Given the description of an element on the screen output the (x, y) to click on. 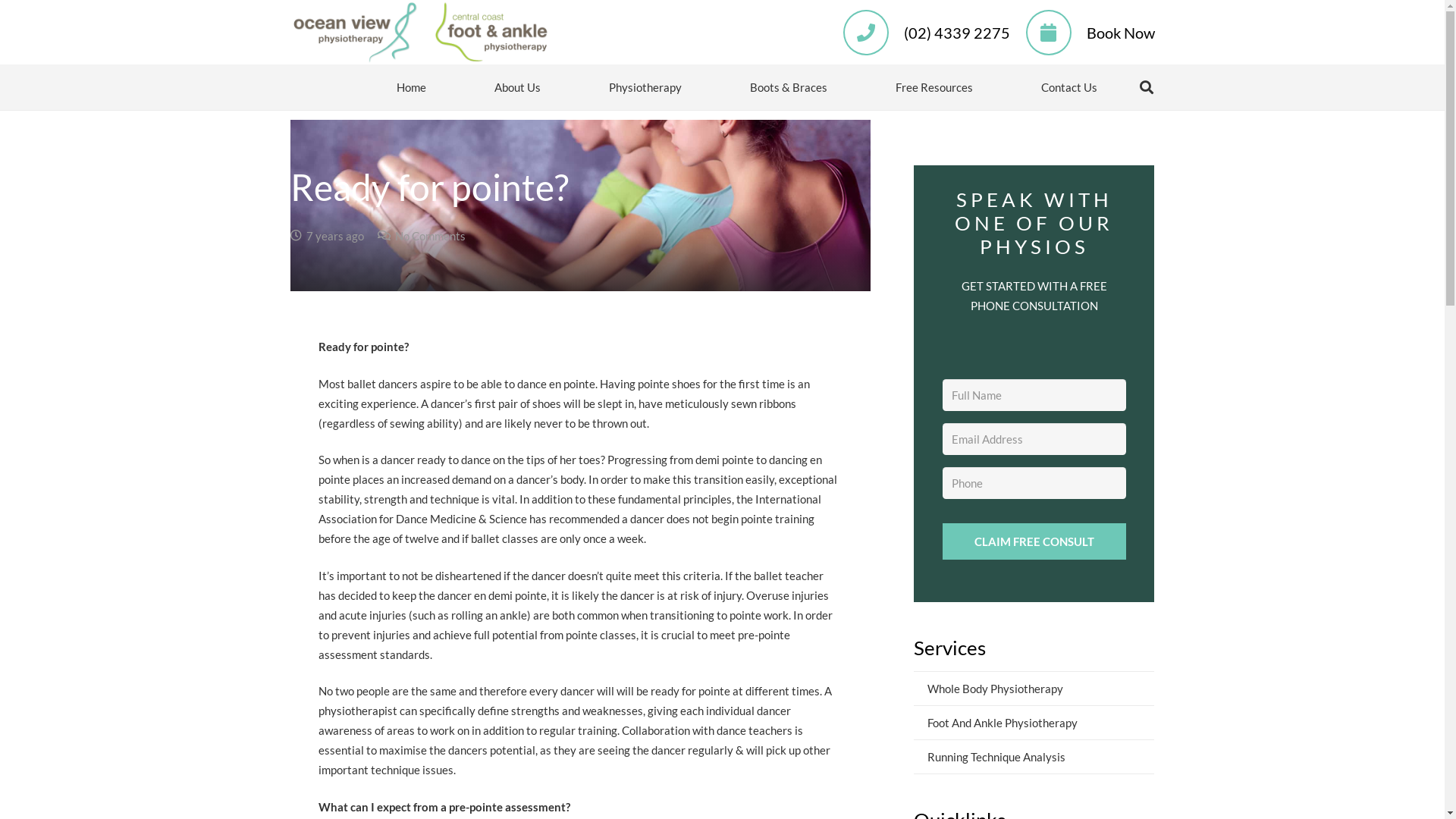
Boots & Braces Element type: text (788, 86)
Contact Us Element type: text (1069, 86)
Physiotherapy Element type: text (644, 86)
Free Resources Element type: text (934, 86)
About Us Element type: text (517, 86)
Whole Body Physiotherapy Element type: text (1033, 688)
Home Element type: text (411, 86)
Foot And Ankle Physiotherapy Element type: text (1033, 722)
Book Now Element type: text (1120, 31)
CLAIM FREE CONSULT Element type: text (1033, 541)
Running Technique Analysis Element type: text (1033, 756)
(02) 4339 2275 Element type: text (956, 31)
No Comments Element type: text (429, 235)
